Given the description of an element on the screen output the (x, y) to click on. 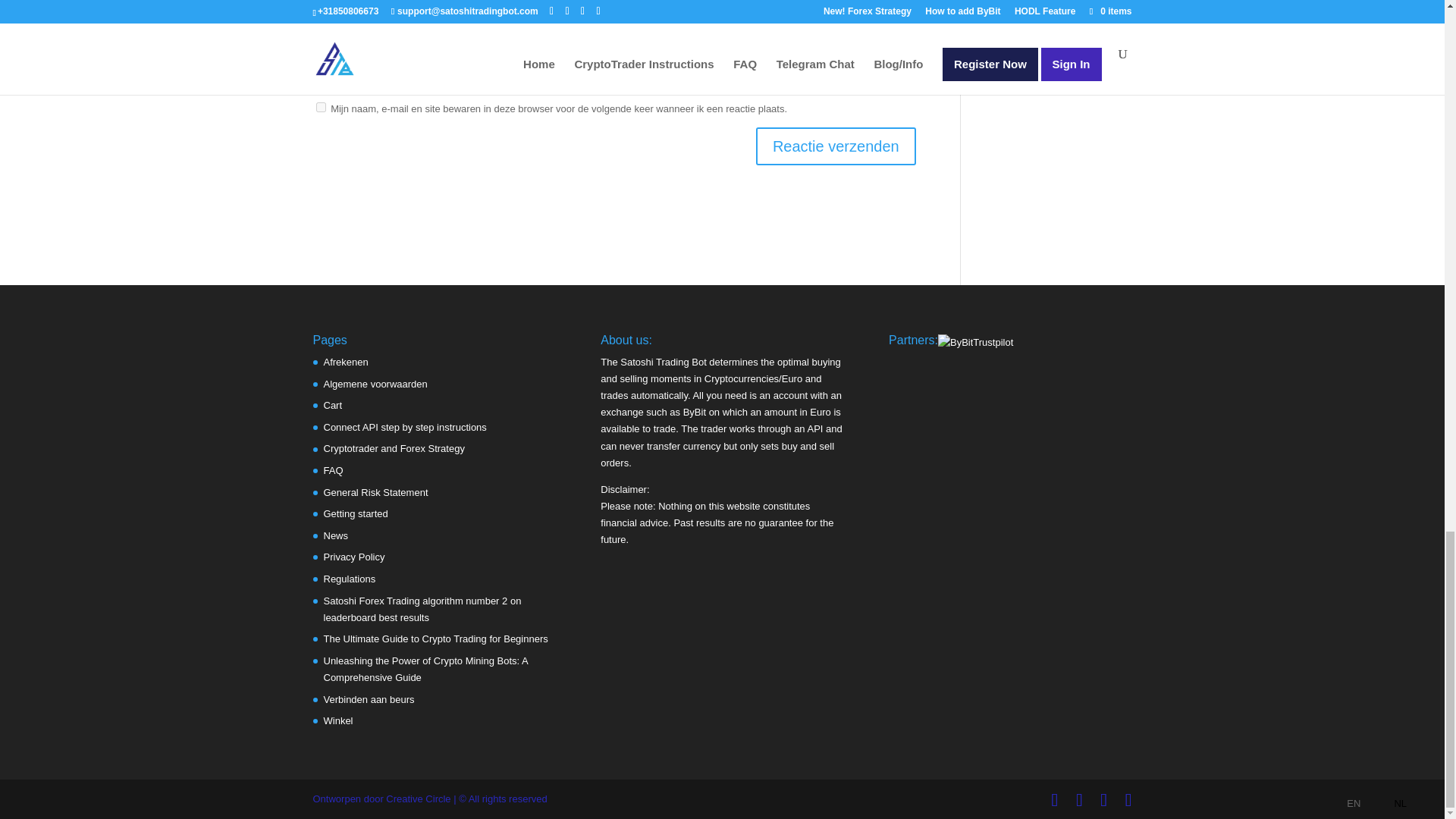
Reactie verzenden (835, 146)
Regulations (349, 578)
Reactie verzenden (835, 146)
FAQ (332, 470)
Privacy Policy (353, 556)
General Risk Statement (375, 491)
Getting started (355, 513)
Afrekenen (345, 361)
Algemene voorwaarden (374, 383)
Cryptotrader and Forex Strategy (393, 448)
